Given the description of an element on the screen output the (x, y) to click on. 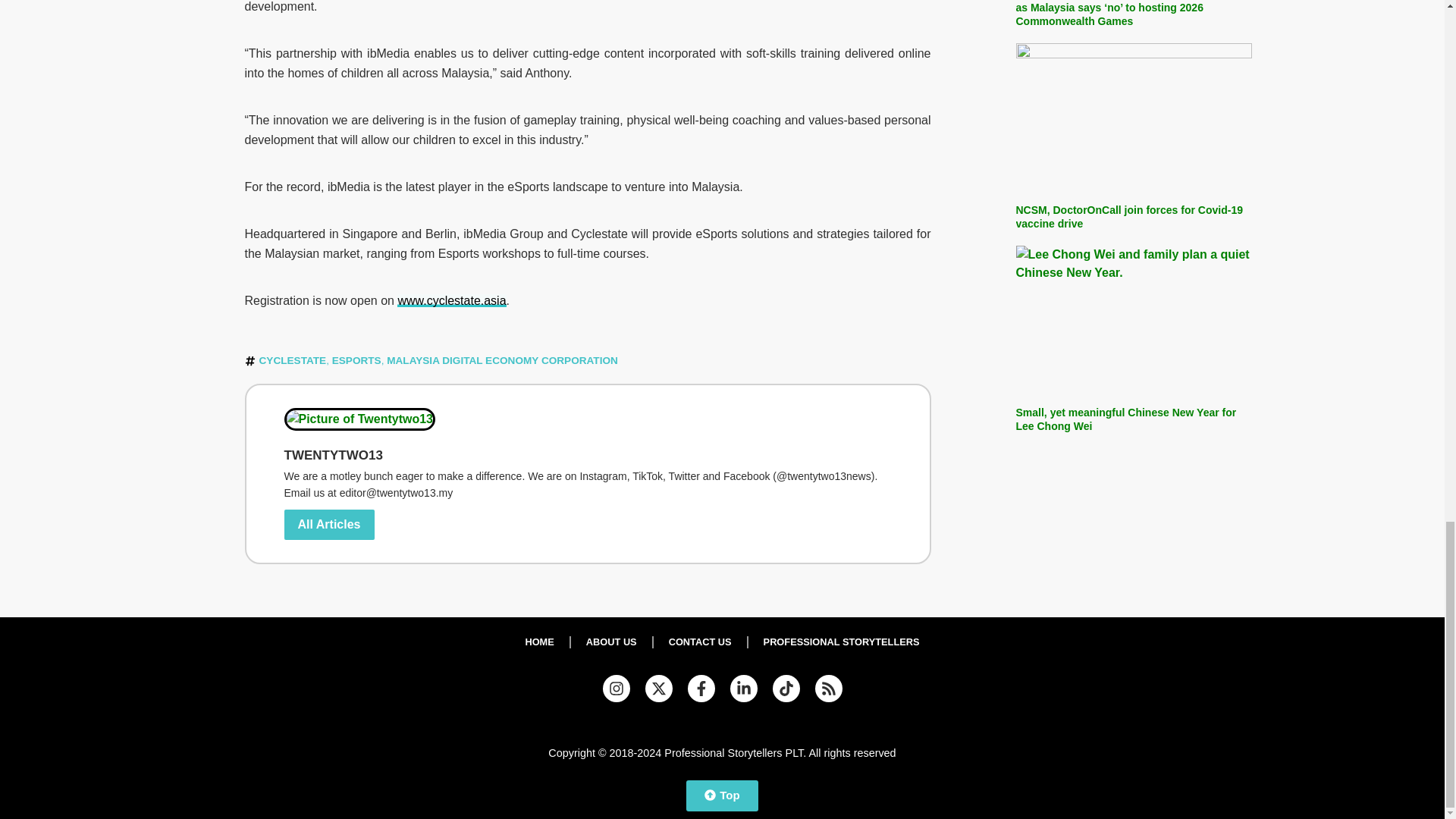
www.cyclestate.asia (451, 300)
ESPORTS (356, 360)
All Articles (328, 524)
TWENTYTWO13 (587, 455)
CYCLESTATE (292, 360)
MALAYSIA DIGITAL ECONOMY CORPORATION (502, 360)
